Given the description of an element on the screen output the (x, y) to click on. 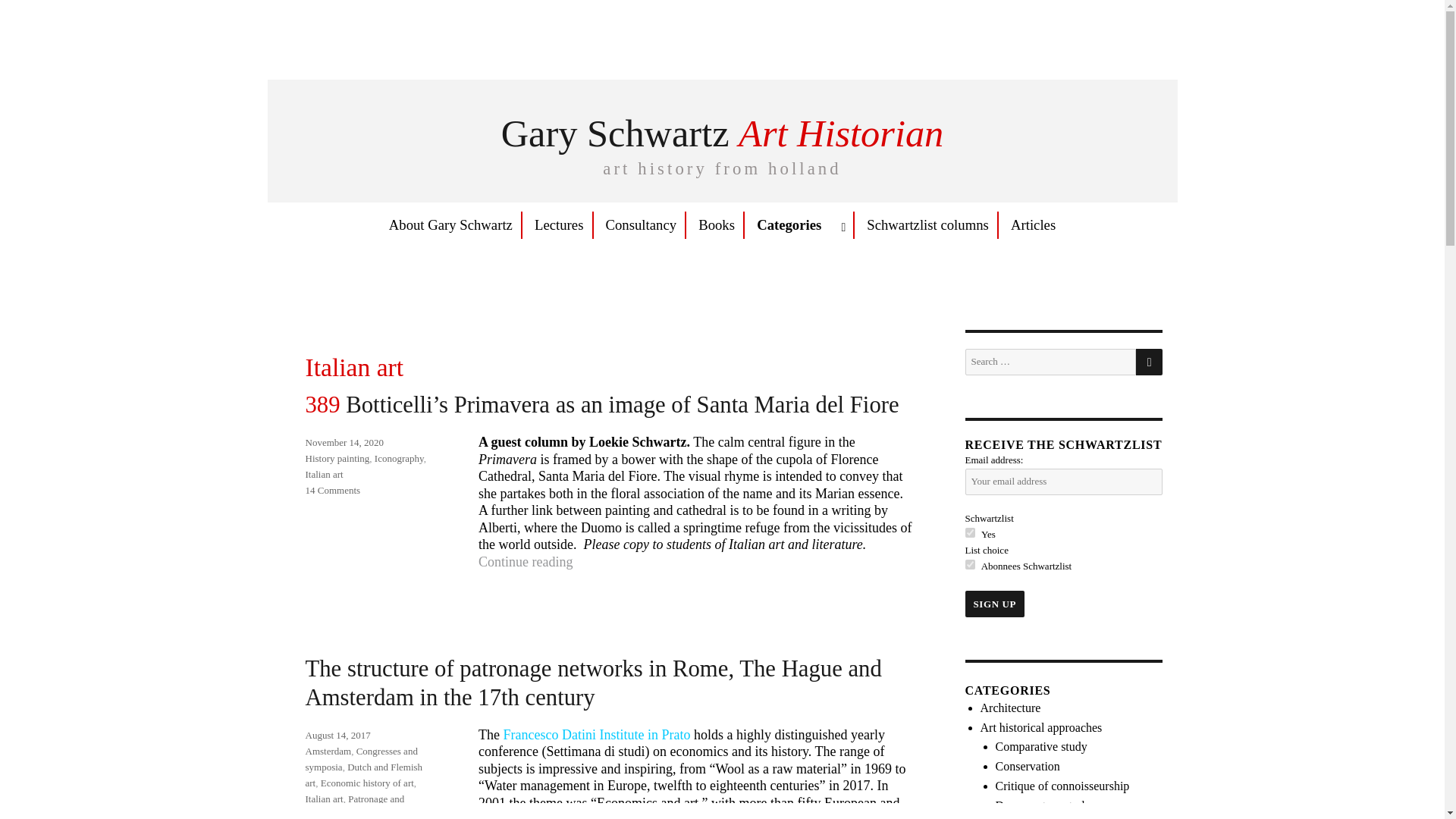
Sign up (994, 603)
70b83dec37 (968, 532)
Categories (800, 225)
Lectures (558, 225)
About Gary Schwartz (450, 225)
Consultancy (640, 225)
Gary Schwartz Art Historian (721, 133)
Books (716, 225)
b384046aaa (968, 564)
